Given the description of an element on the screen output the (x, y) to click on. 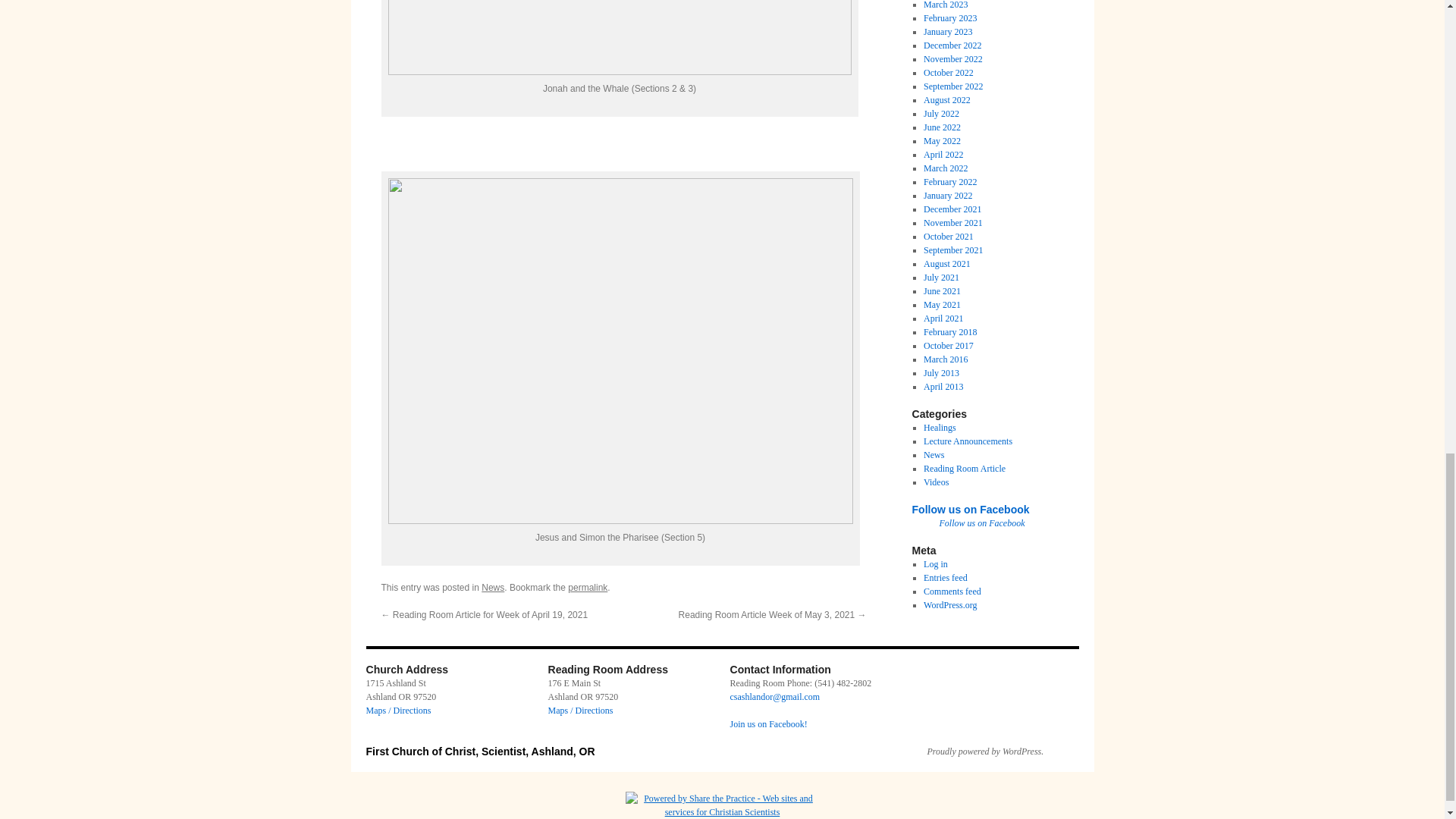
permalink (587, 587)
Permalink to Reading Room Article Week of April 26, 2021 (587, 587)
Semantic Personal Publishing Platform (977, 751)
News (492, 587)
